Given the description of an element on the screen output the (x, y) to click on. 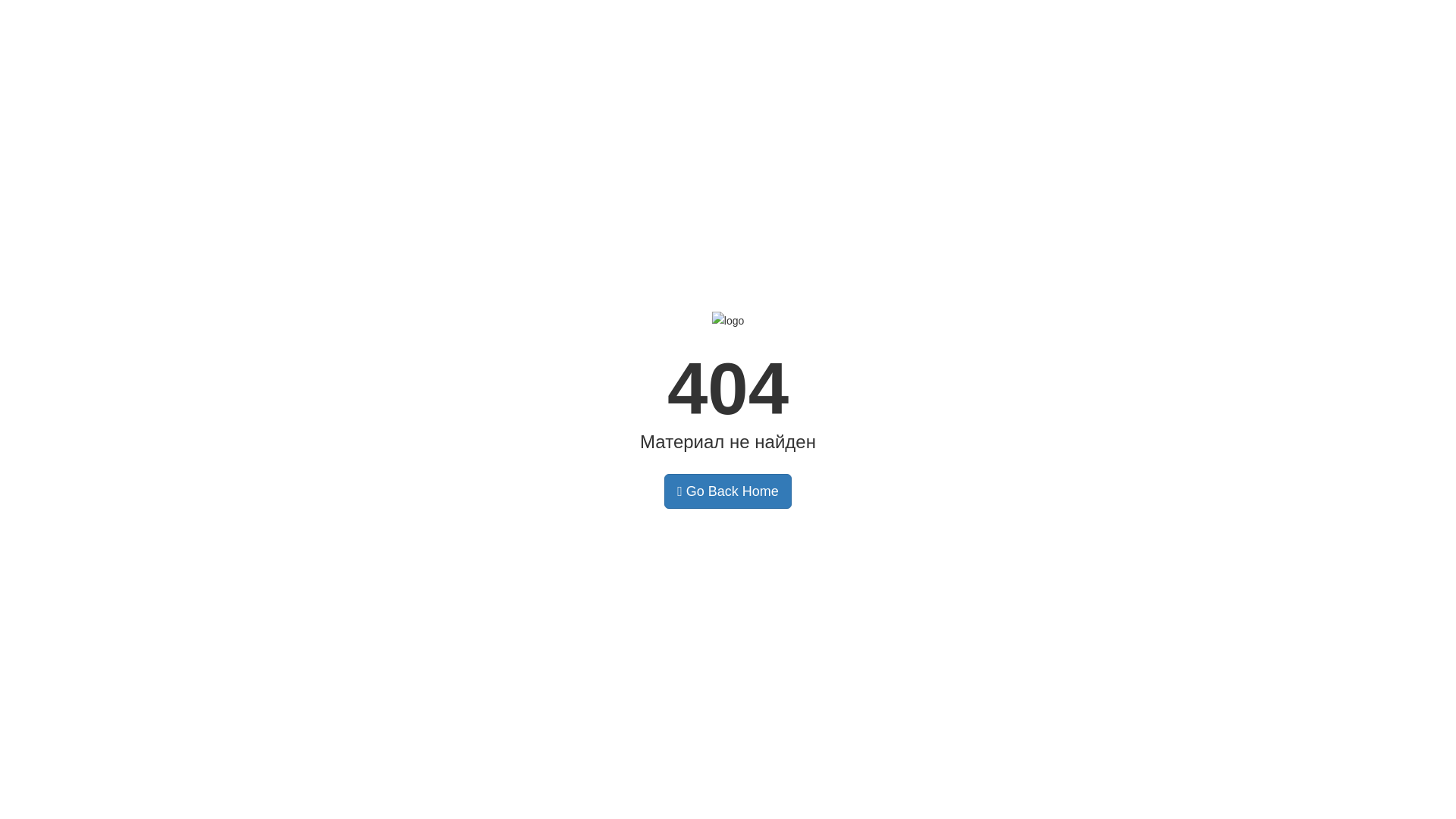
Go Back Home Element type: text (727, 490)
